Given the description of an element on the screen output the (x, y) to click on. 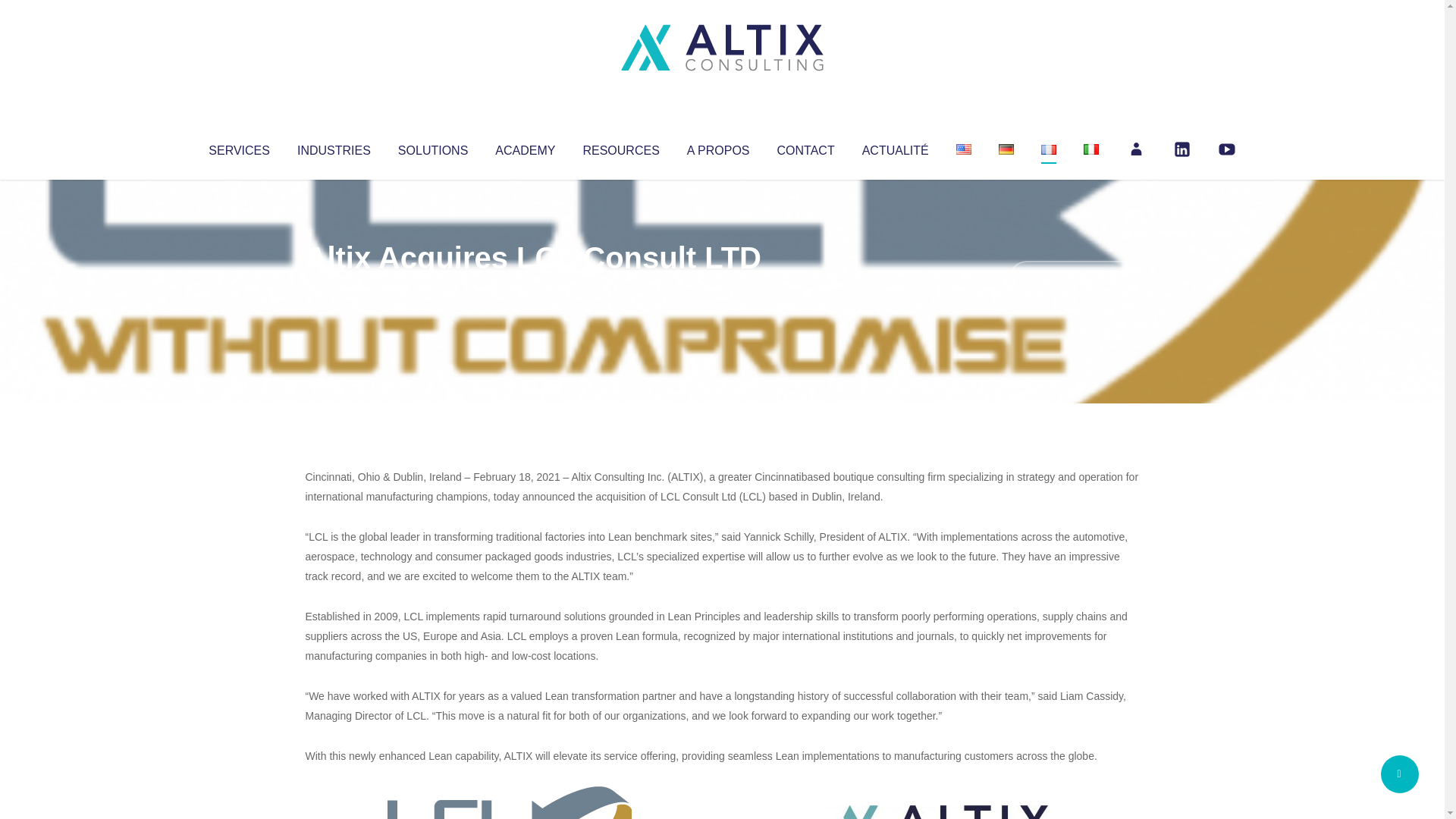
Altix (333, 287)
Uncategorized (530, 287)
SERVICES (238, 146)
INDUSTRIES (334, 146)
RESOURCES (620, 146)
Articles par Altix (333, 287)
A PROPOS (718, 146)
SOLUTIONS (432, 146)
ACADEMY (524, 146)
No Comments (1073, 278)
